Given the description of an element on the screen output the (x, y) to click on. 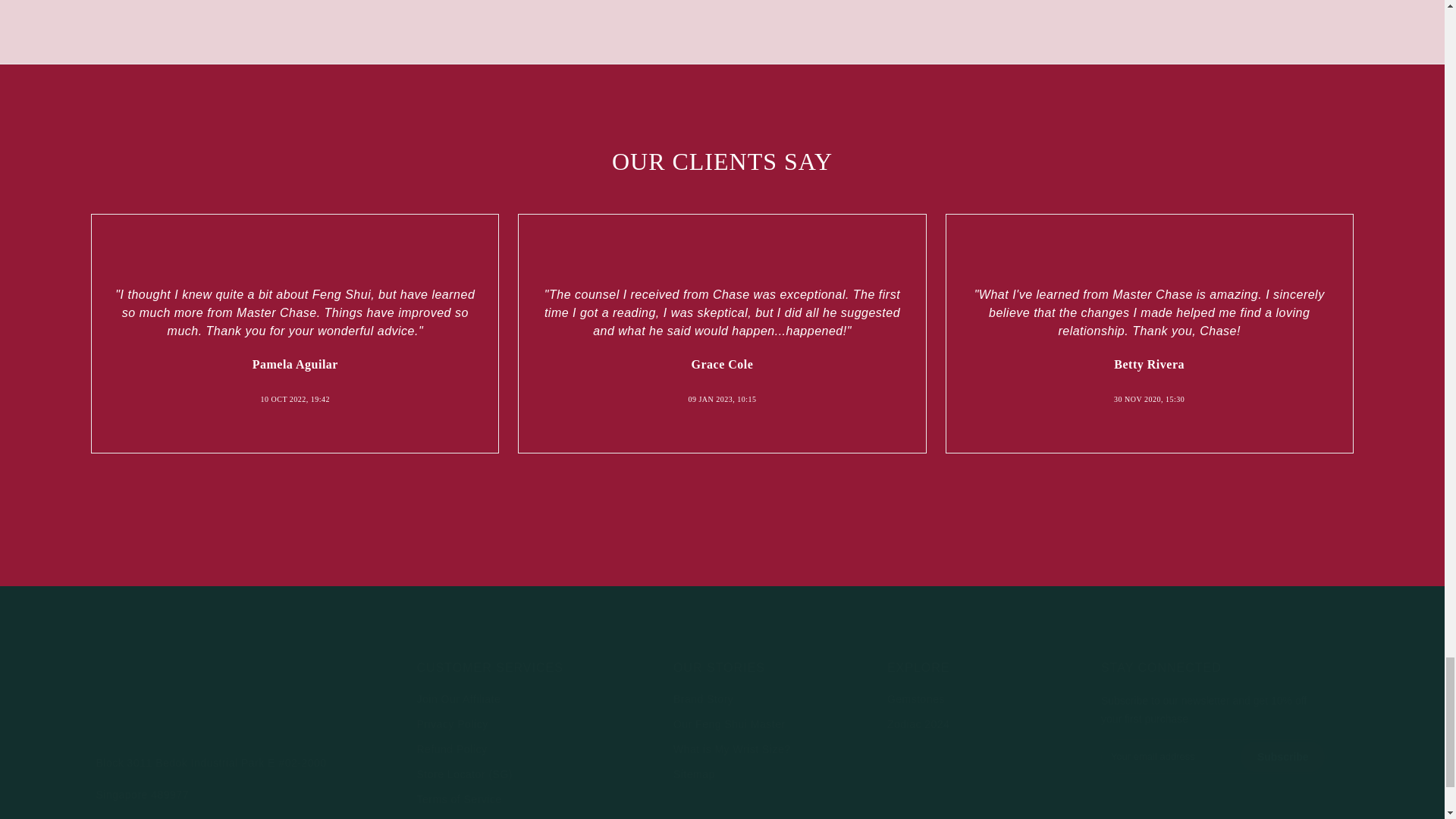
Refund Policy (451, 748)
Join Our Affiliate (458, 698)
Gemstones (915, 698)
What is My Wrist Size? (731, 748)
Our Feng Shui Master (729, 724)
Sitemap (693, 774)
Subscribe (1282, 757)
Privacy Policy (451, 724)
Warranty (439, 818)
Zodiac 2024 (918, 724)
Brand Story (702, 698)
Terms of Service (459, 799)
